Given the description of an element on the screen output the (x, y) to click on. 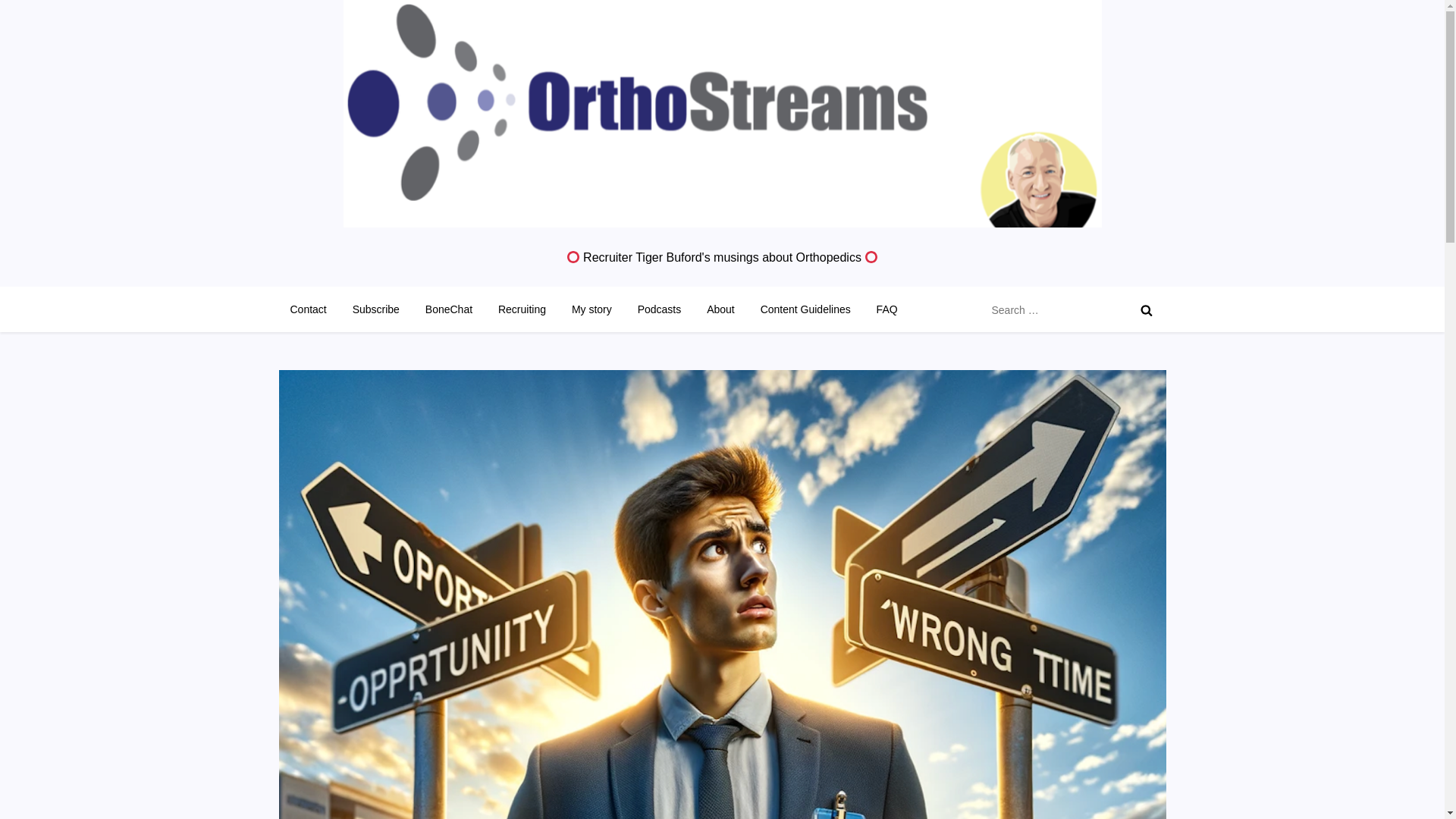
Recruiting (521, 309)
Subscribe (375, 309)
My story (591, 309)
FAQ (886, 309)
BoneChat (448, 309)
Content Guidelines (805, 309)
Contact (308, 309)
Podcasts (659, 309)
About (720, 309)
